Given the description of an element on the screen output the (x, y) to click on. 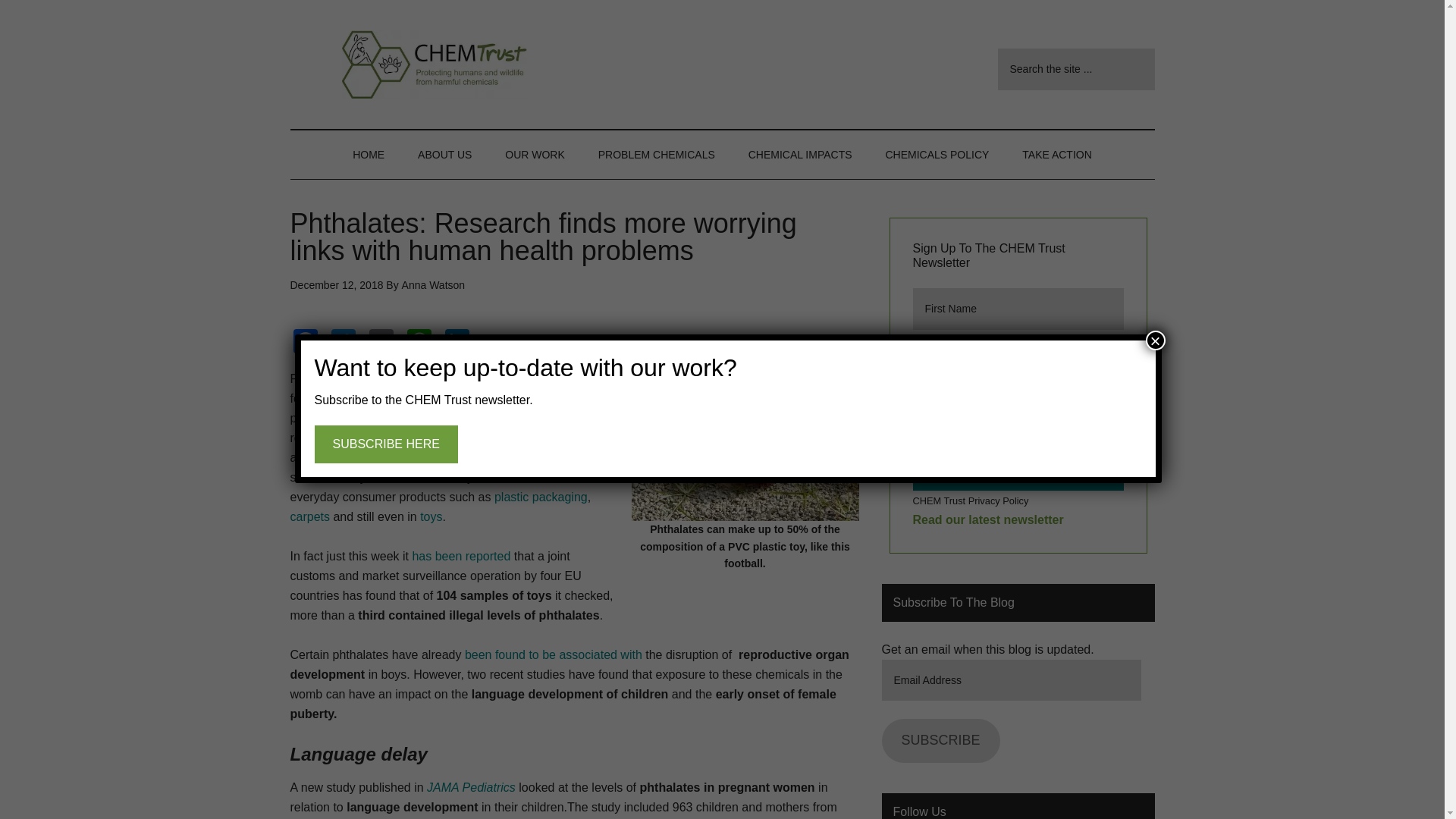
Subscribe (1018, 470)
PROBLEM CHEMICALS (656, 154)
Twitter (346, 343)
CHEMICAL IMPACTS (800, 154)
CHEM Trust (433, 64)
LinkedIn (460, 343)
HOME (367, 154)
OUR WORK (534, 154)
WhatsApp (422, 343)
ABOUT US (444, 154)
Email (384, 343)
Facebook (308, 343)
